Given the description of an element on the screen output the (x, y) to click on. 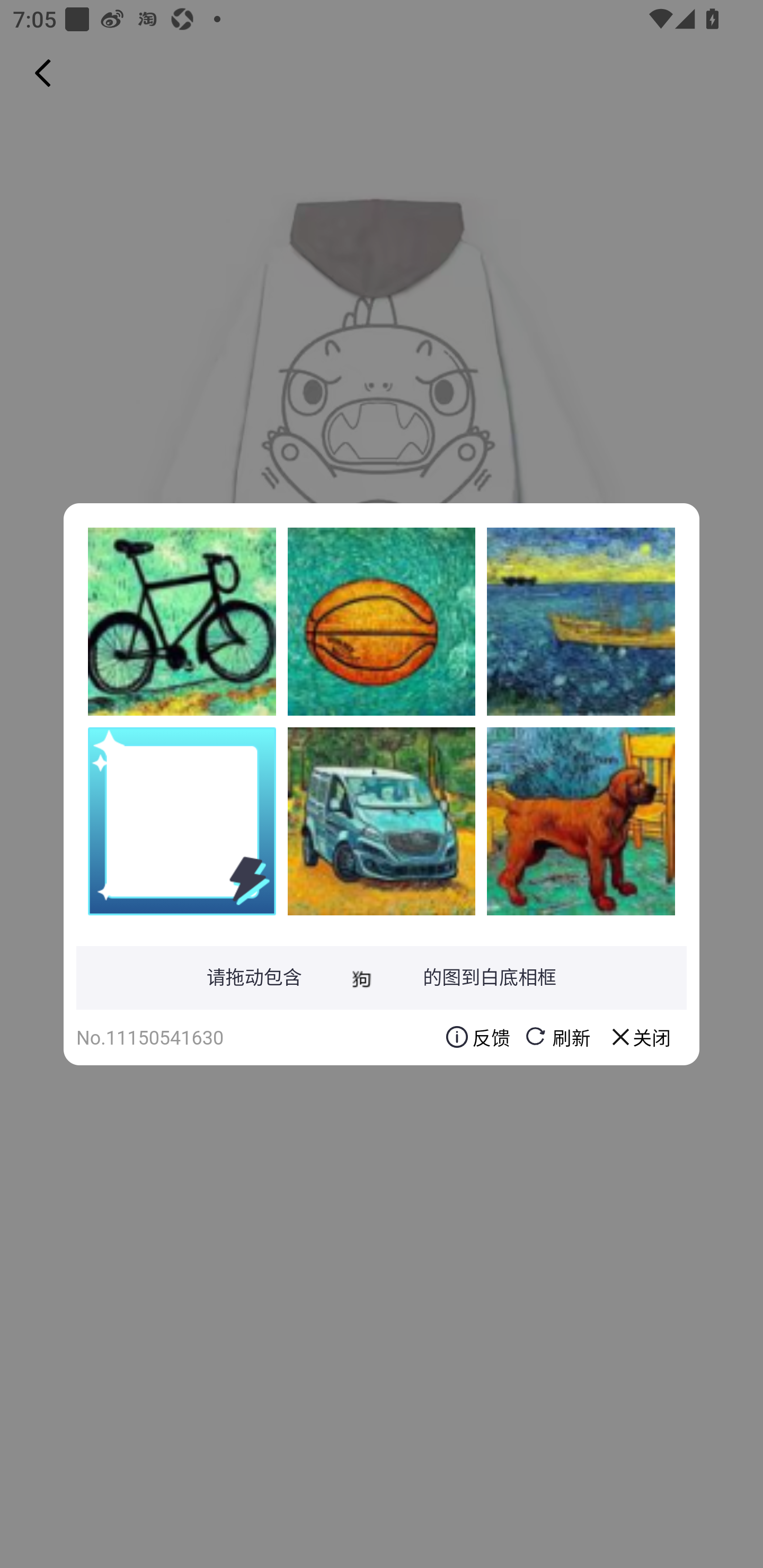
k8dIY (181, 621)
